Given the description of an element on the screen output the (x, y) to click on. 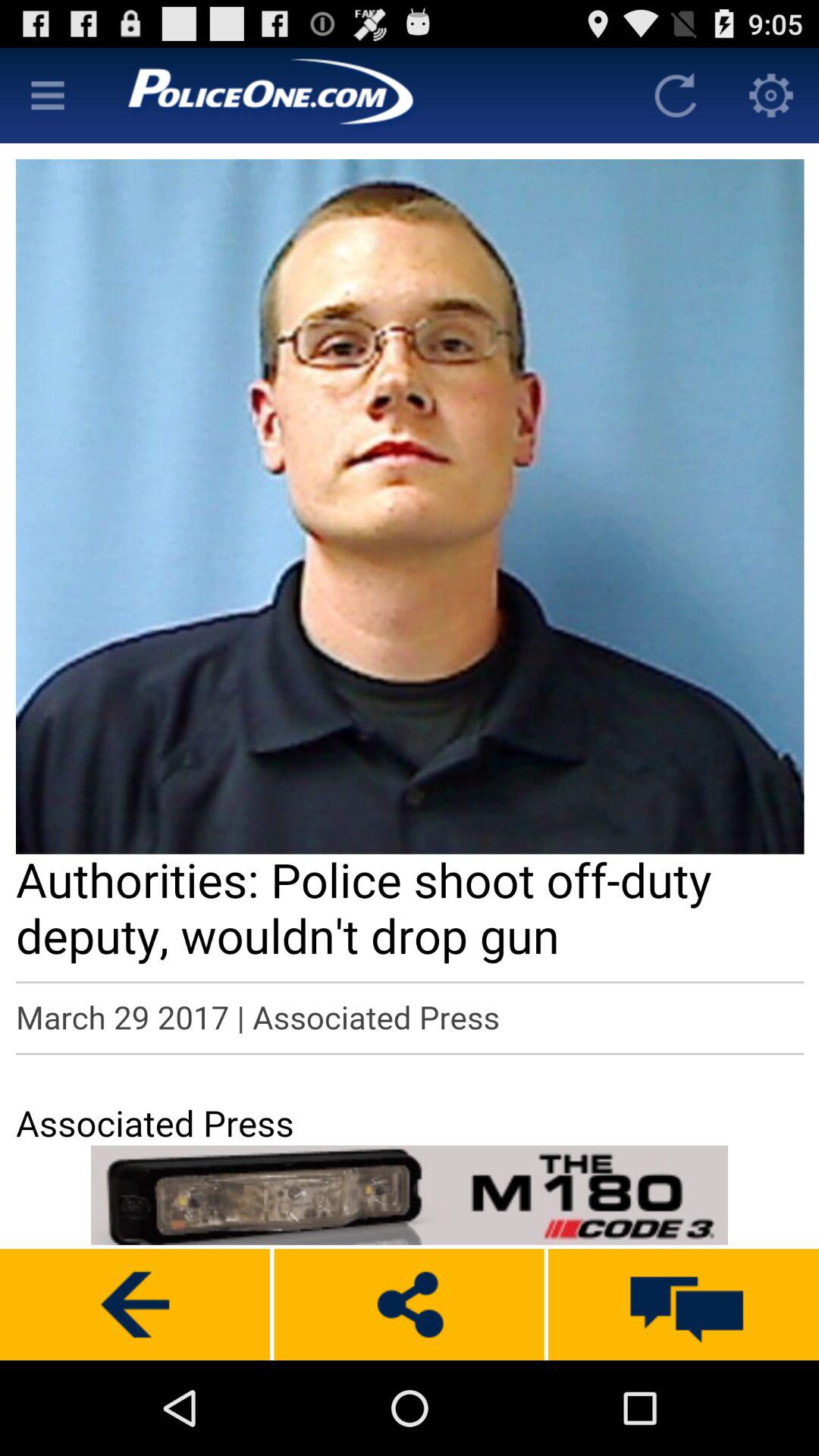
know the content (771, 95)
